Given the description of an element on the screen output the (x, y) to click on. 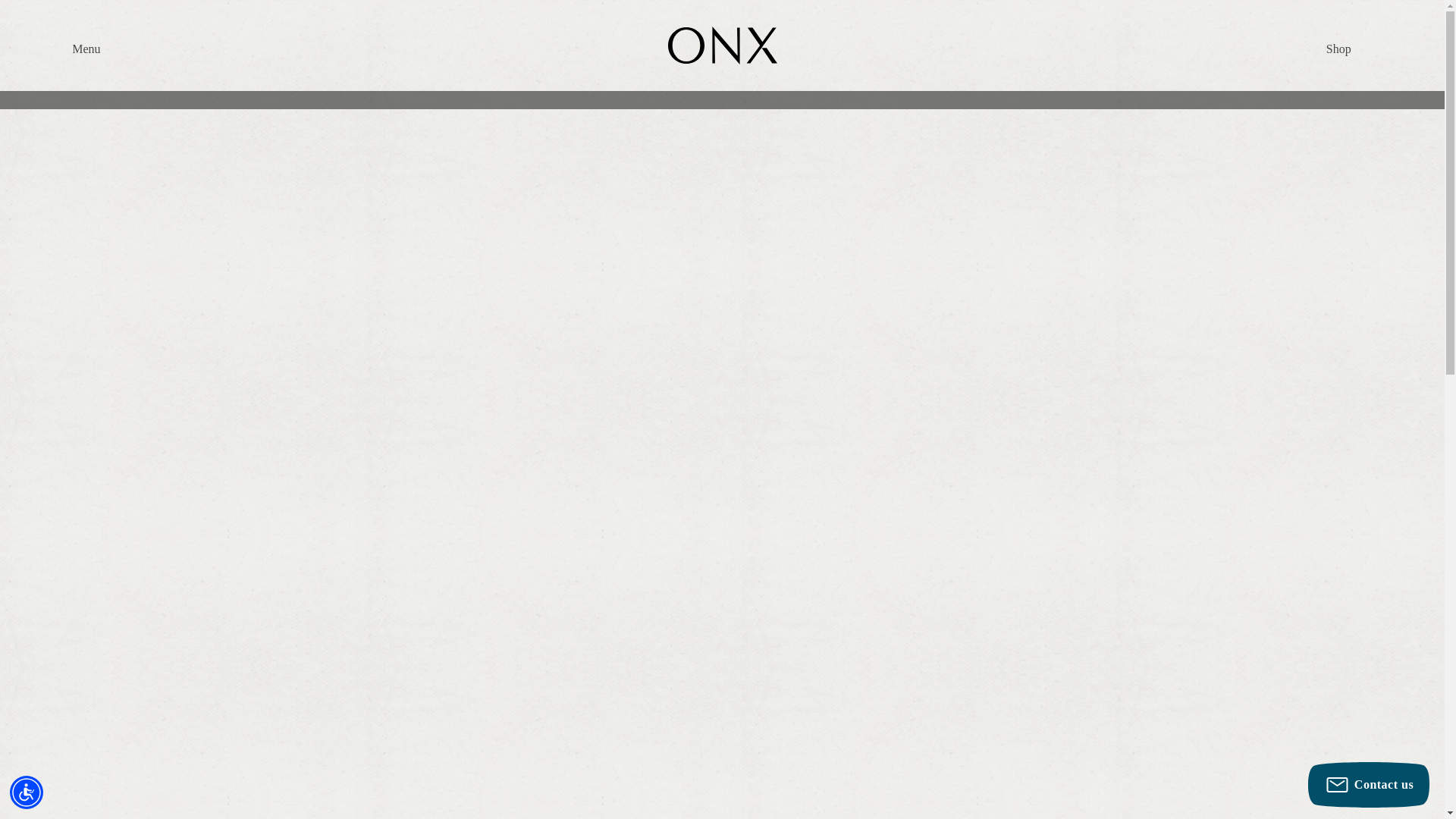
Menu (85, 48)
Accessibility Menu (26, 792)
Shop (1338, 49)
